Given the description of an element on the screen output the (x, y) to click on. 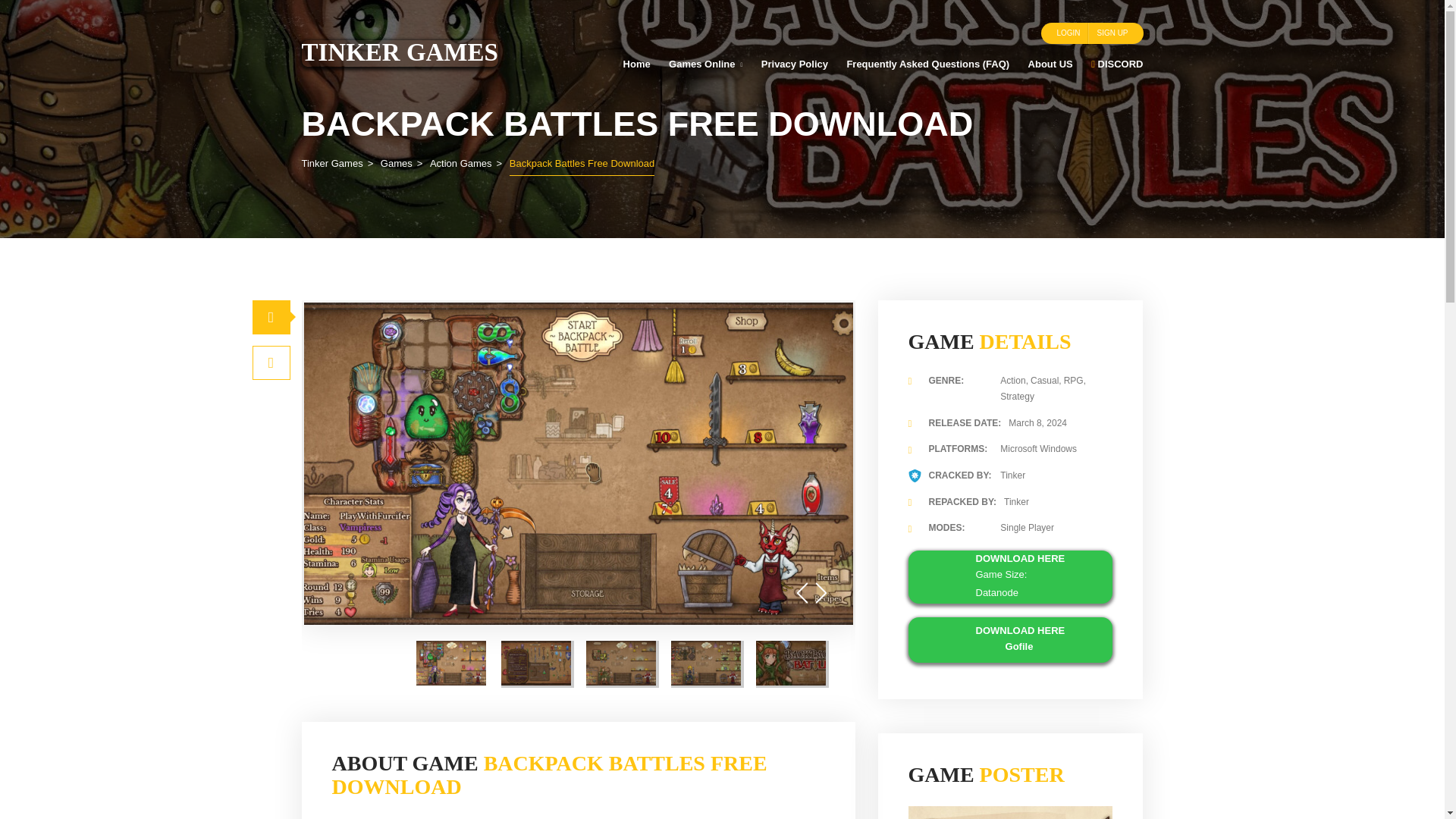
TINKER GAMES (399, 52)
LOGIN (1067, 33)
SIGN UP (1111, 33)
Home (636, 64)
Go to the Action Games Categories archives. (460, 163)
Privacy Policy (793, 64)
About US (1050, 64)
Tinker Games (331, 163)
Tinker Games (399, 52)
DISCORD (1112, 64)
Sign Up (1111, 33)
Go to Tinker Games. (331, 163)
Games Online (706, 64)
Go to Games. (396, 163)
Login (1067, 33)
